Given the description of an element on the screen output the (x, y) to click on. 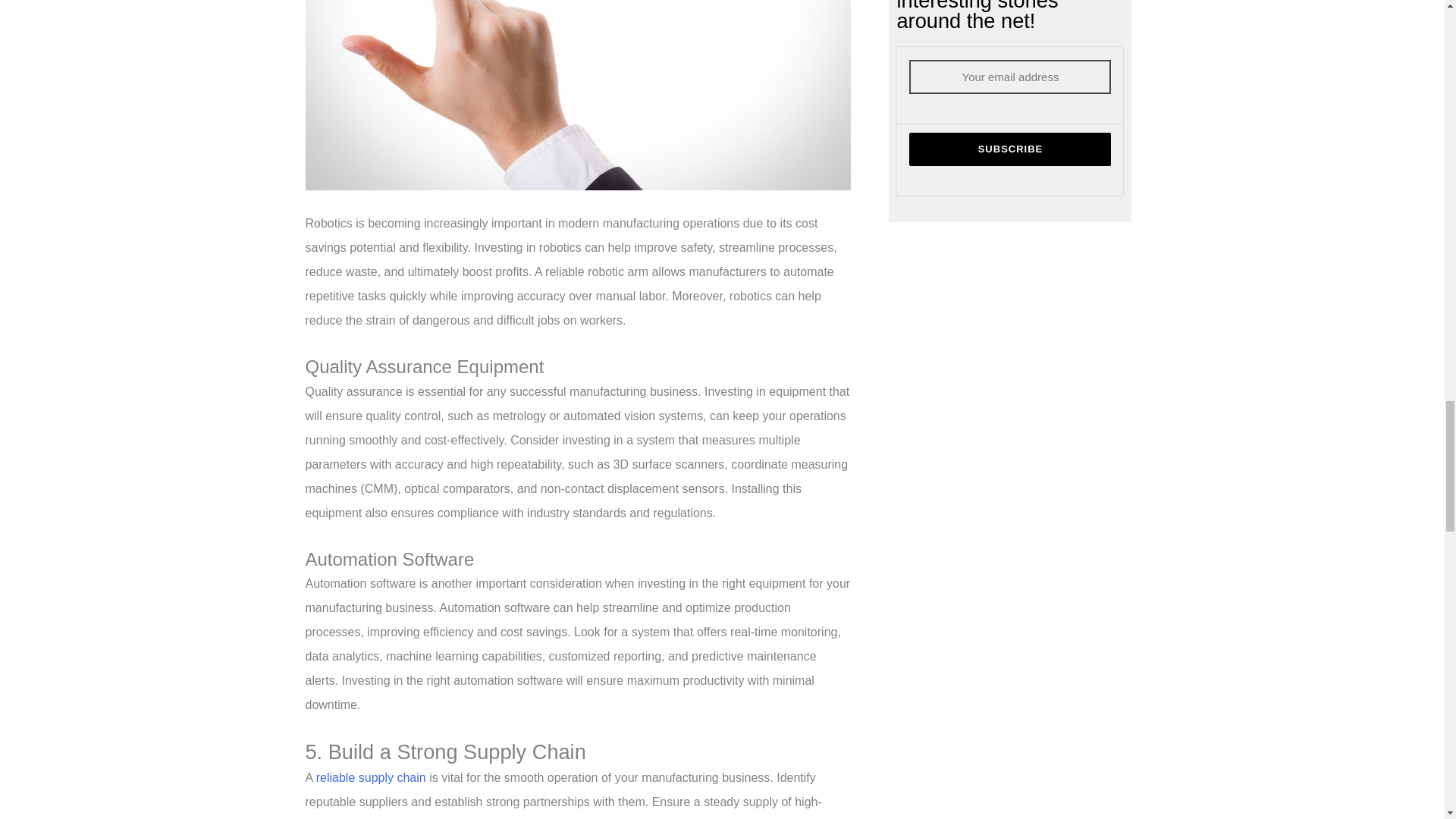
reliable supply chain (370, 777)
Subscribe (1009, 149)
Subscribe (1009, 149)
improve productivity in search bar (577, 95)
